Given the description of an element on the screen output the (x, y) to click on. 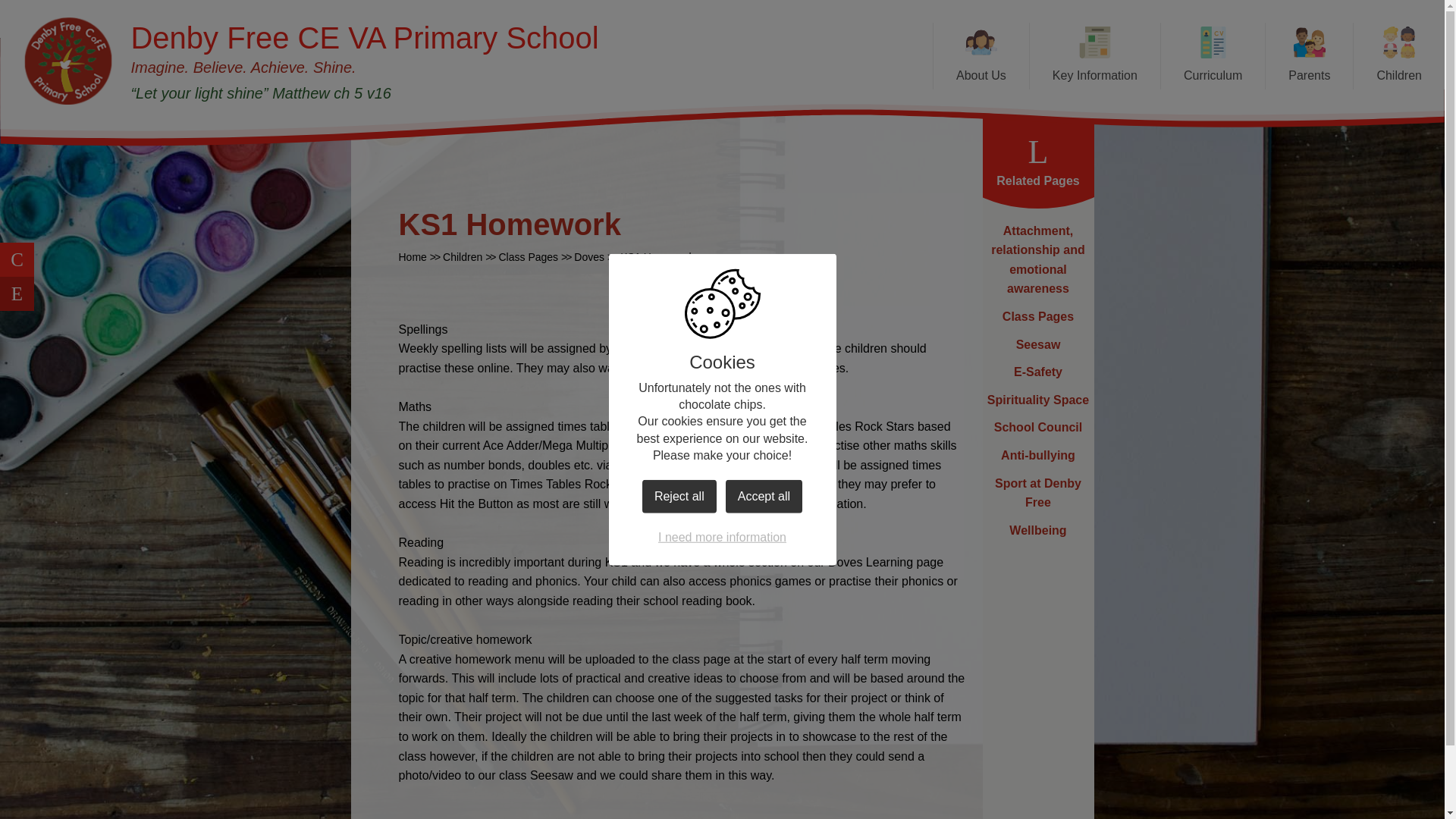
Key Information (1094, 55)
Home Page (68, 60)
About Us (981, 55)
Curriculum (1212, 55)
